Given the description of an element on the screen output the (x, y) to click on. 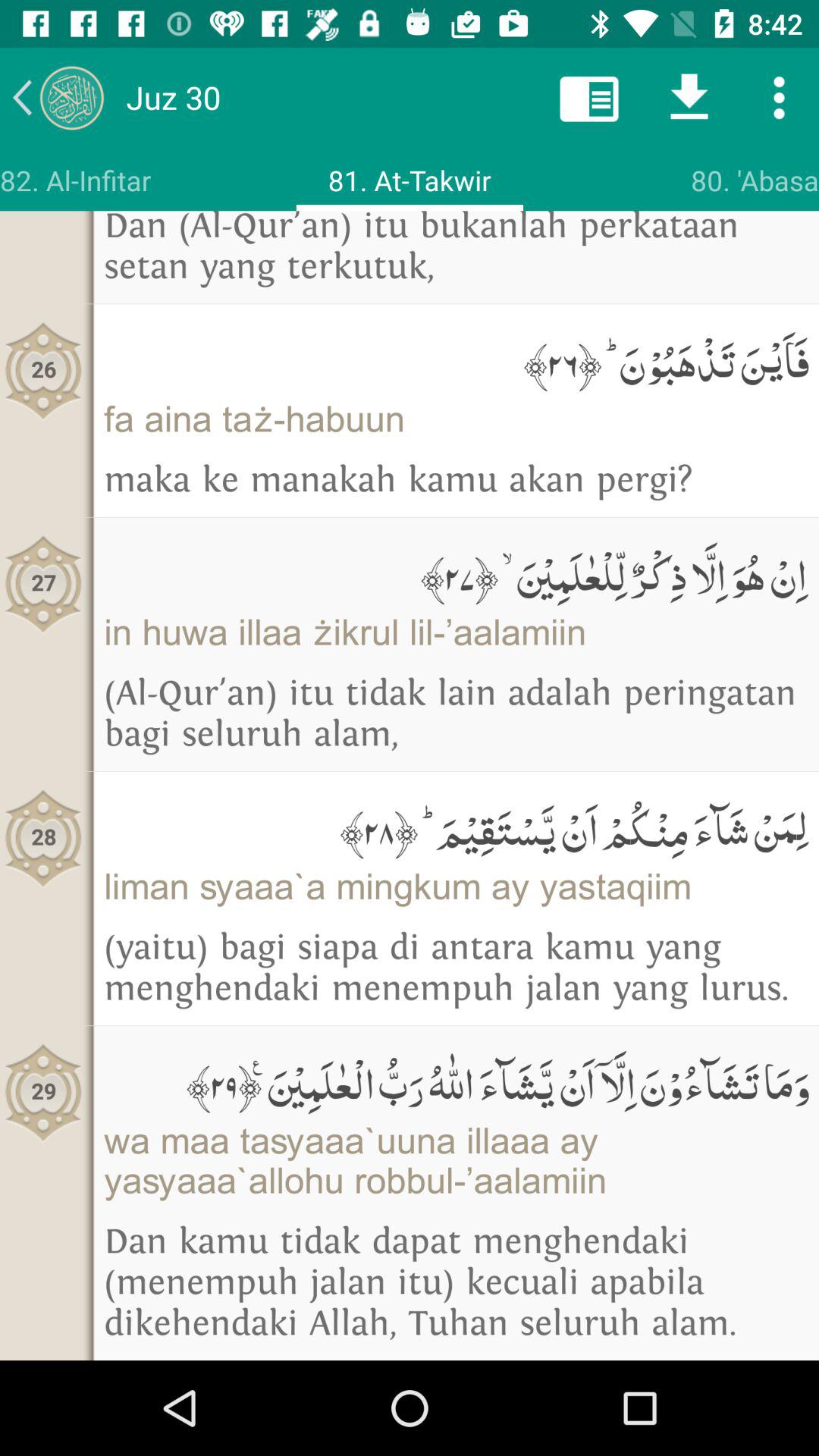
click the item above the wa maa tasaaa (456, 1081)
